Given the description of an element on the screen output the (x, y) to click on. 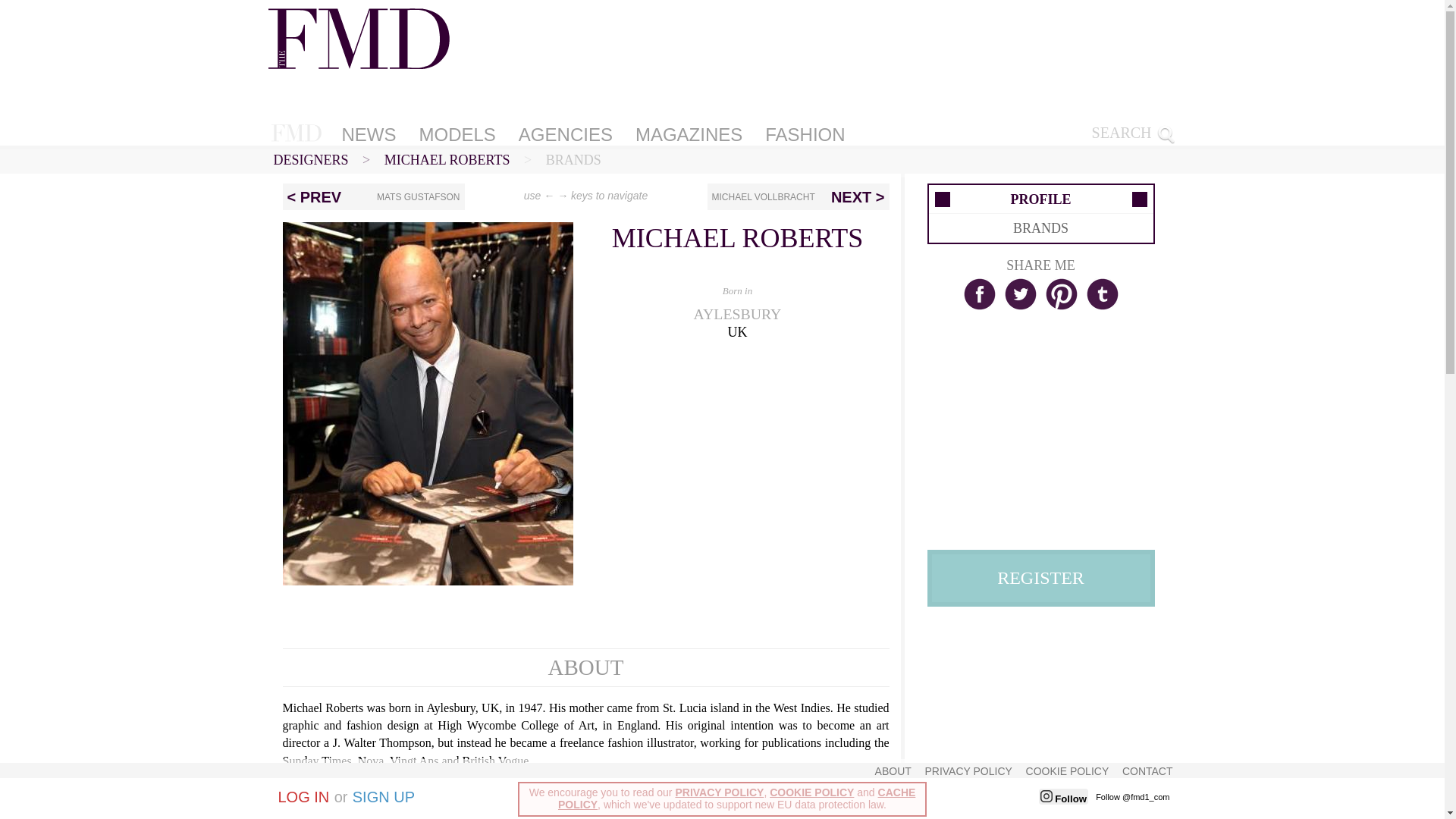
MAGAZINES (688, 134)
FASHION (804, 134)
NEWS (367, 134)
MICHAEL ROBERTS (447, 159)
DESIGNERS (310, 159)
BRANDS (573, 159)
AGENCIES (565, 134)
MODELS (456, 134)
